Given the description of an element on the screen output the (x, y) to click on. 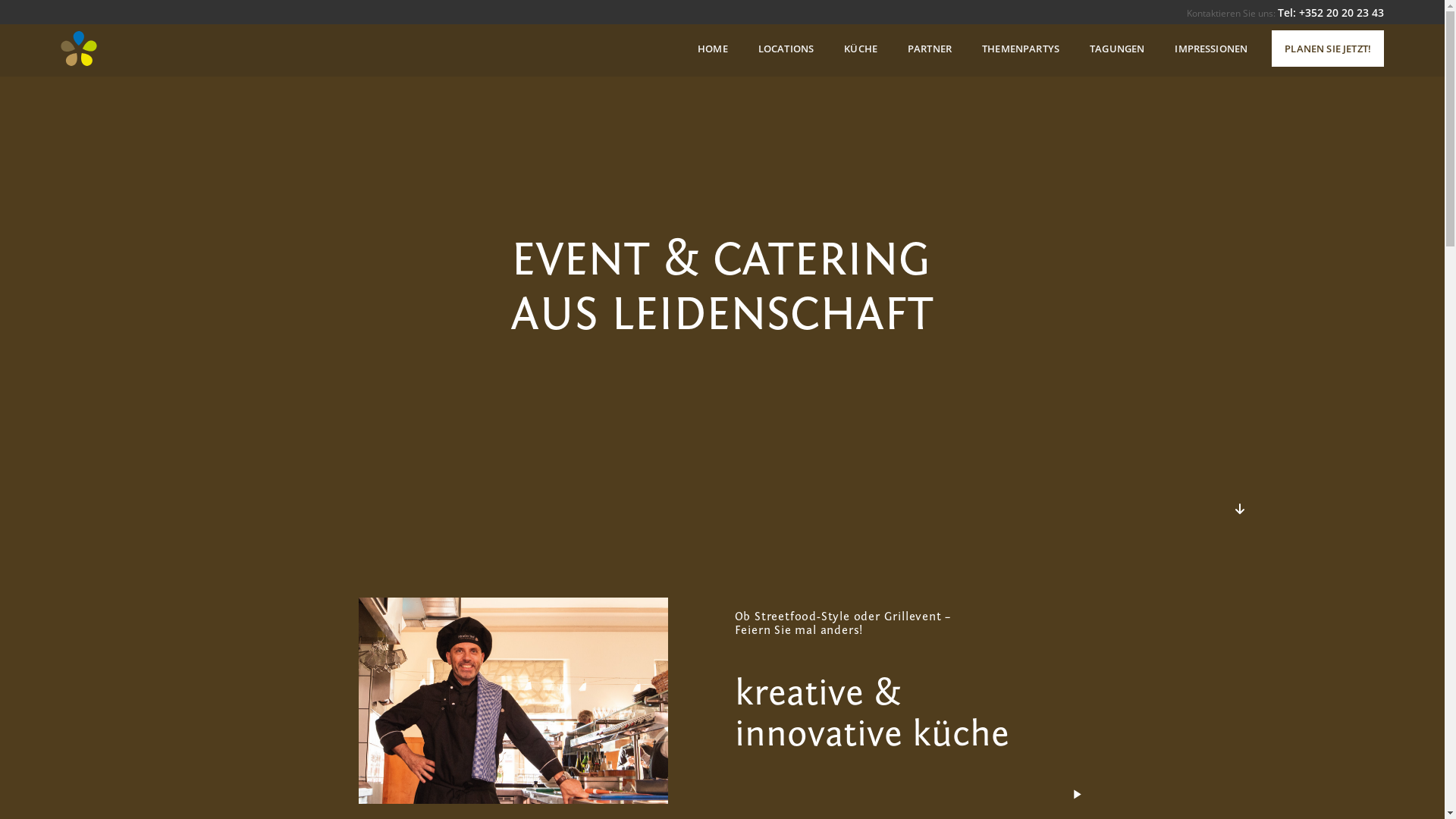
herunterscrollen Element type: hover (1239, 508)
PARTNER Element type: text (929, 48)
Logo - Zandbergen Eventcatering Element type: hover (78, 48)
TAGUNGEN Element type: text (1116, 48)
PLANEN SIE JETZT! Element type: text (1327, 48)
Tel: +352 20 20 23 43 Element type: text (1330, 11)
LOCATIONS Element type: text (785, 48)
THEMENPARTYS Element type: text (1020, 48)
IMPRESSIONEN Element type: text (1210, 48)
HOME Element type: text (712, 48)
